Given the description of an element on the screen output the (x, y) to click on. 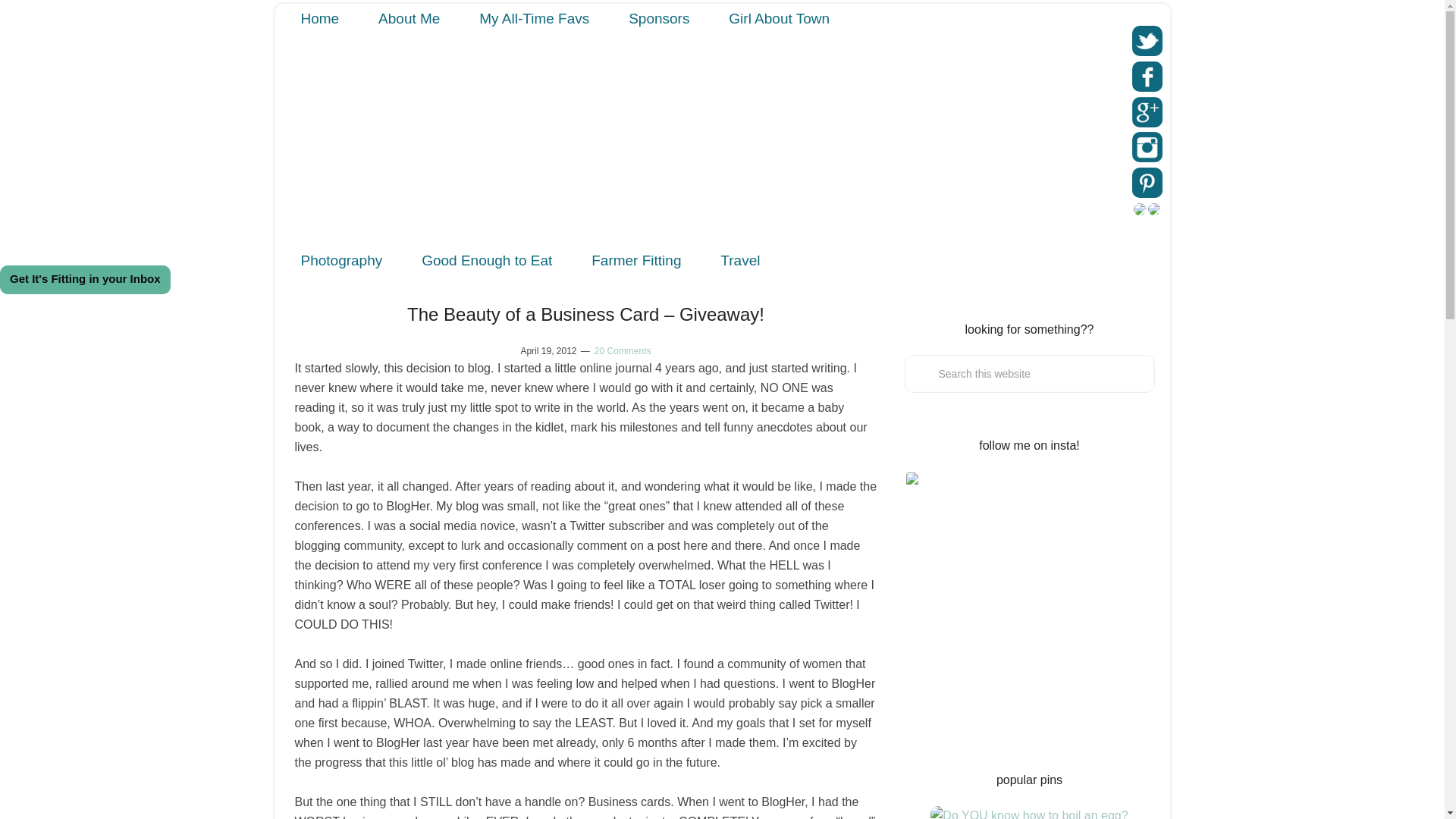
My All-Time Favs (534, 18)
Farmer Fitting (635, 260)
Home (319, 18)
Photography (341, 260)
Do YOU Know How to Boil an Egg? (1028, 812)
Good Enough to Eat (486, 260)
20 Comments (622, 350)
